Given the description of an element on the screen output the (x, y) to click on. 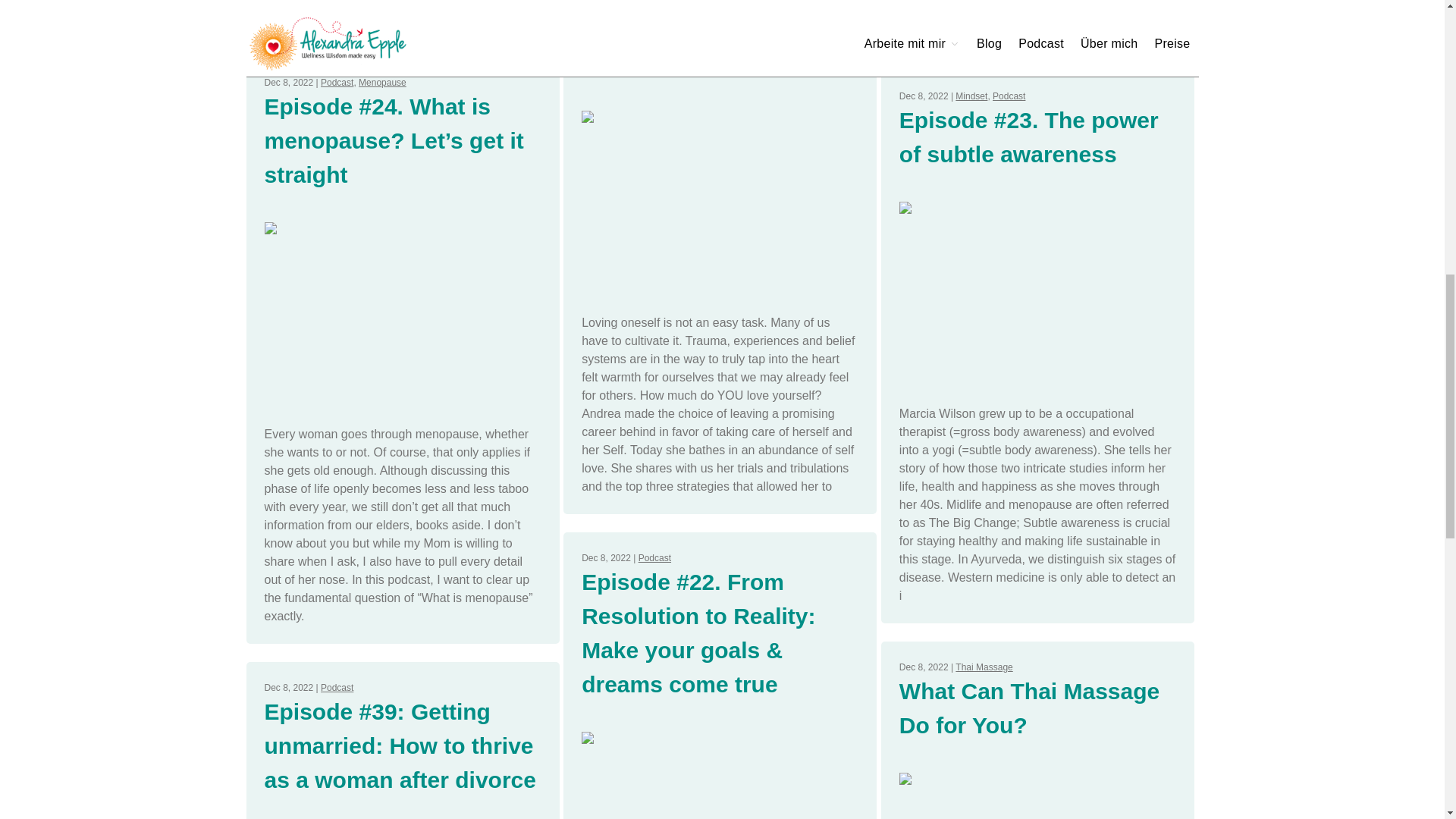
Podcast (1008, 95)
Mindset (971, 95)
Menopause (382, 81)
Thai Massage (983, 666)
Podcast (655, 557)
Podcast (336, 687)
Podcast (336, 81)
